Given the description of an element on the screen output the (x, y) to click on. 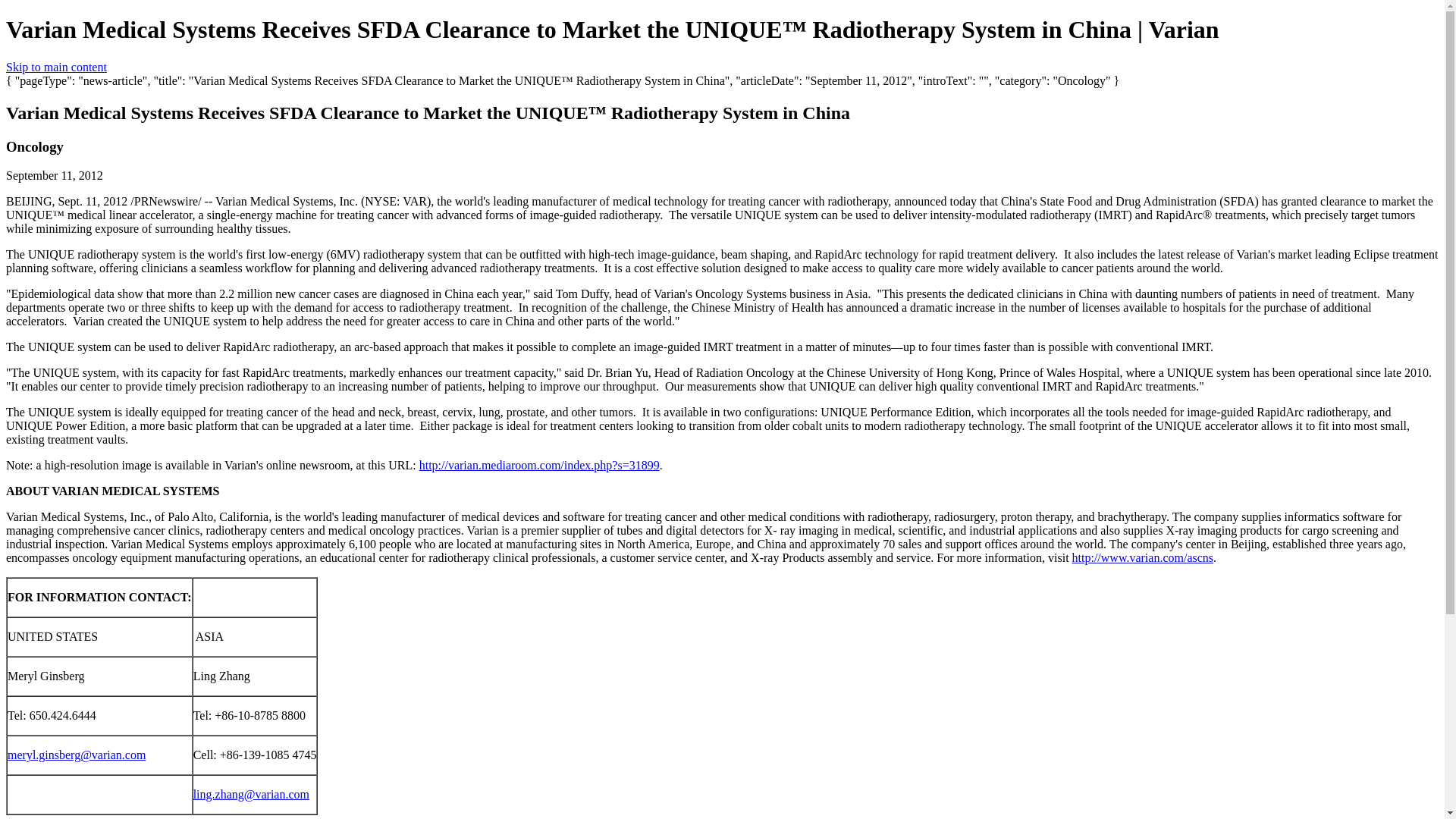
Skip to main content (55, 66)
